Given the description of an element on the screen output the (x, y) to click on. 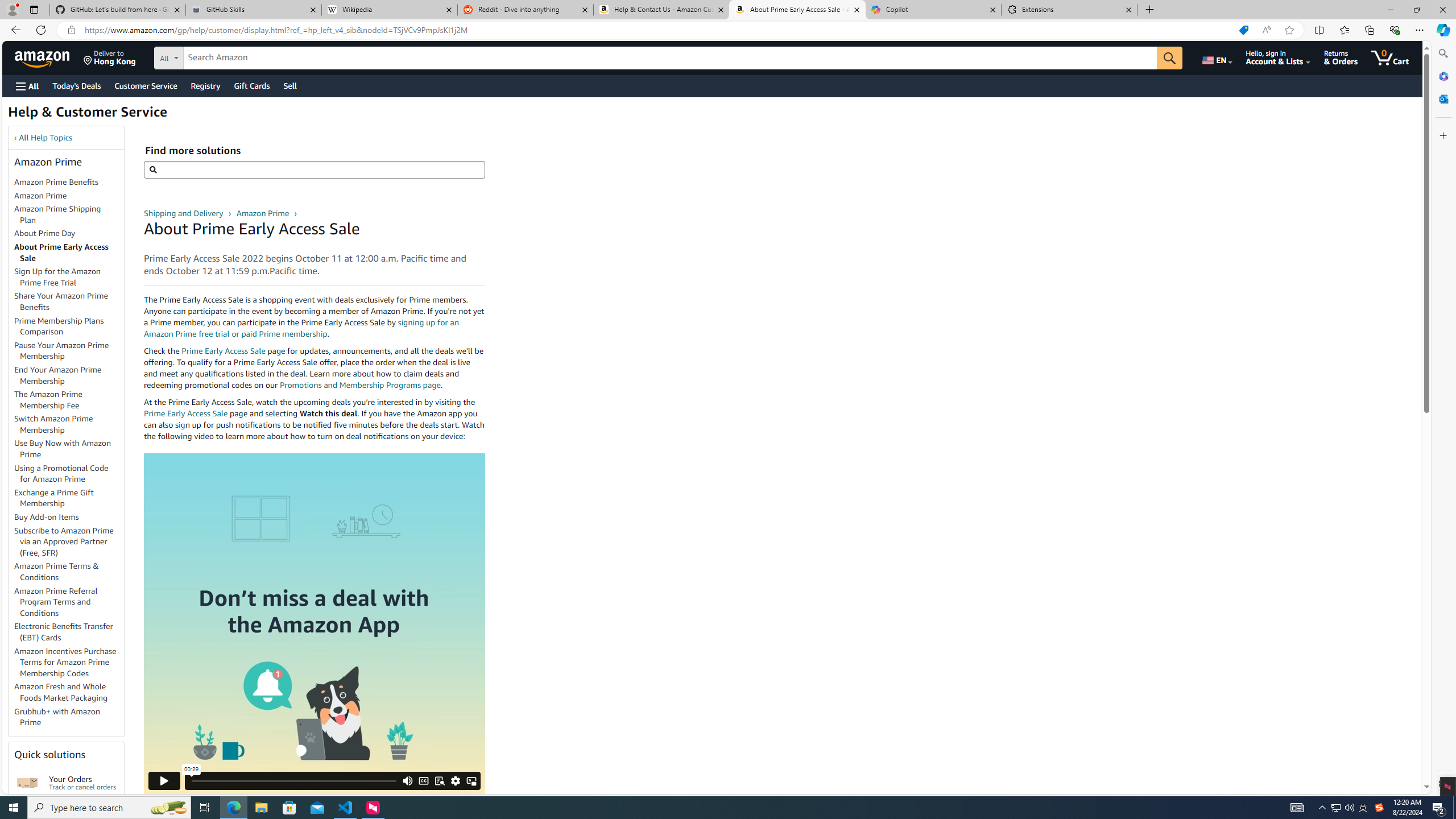
Volume (use up/down arrow keys to change) (407, 739)
Sign Up for the Amazon Prime Free Trial (68, 277)
Copilot (933, 9)
Switch Amazon Prime Membership (53, 423)
Exchange a Prime Gift Membership (53, 497)
Go (1169, 57)
Exchange a Prime Gift Membership (68, 498)
Using a Promotional Code for Amazon Prime (61, 473)
